Given the description of an element on the screen output the (x, y) to click on. 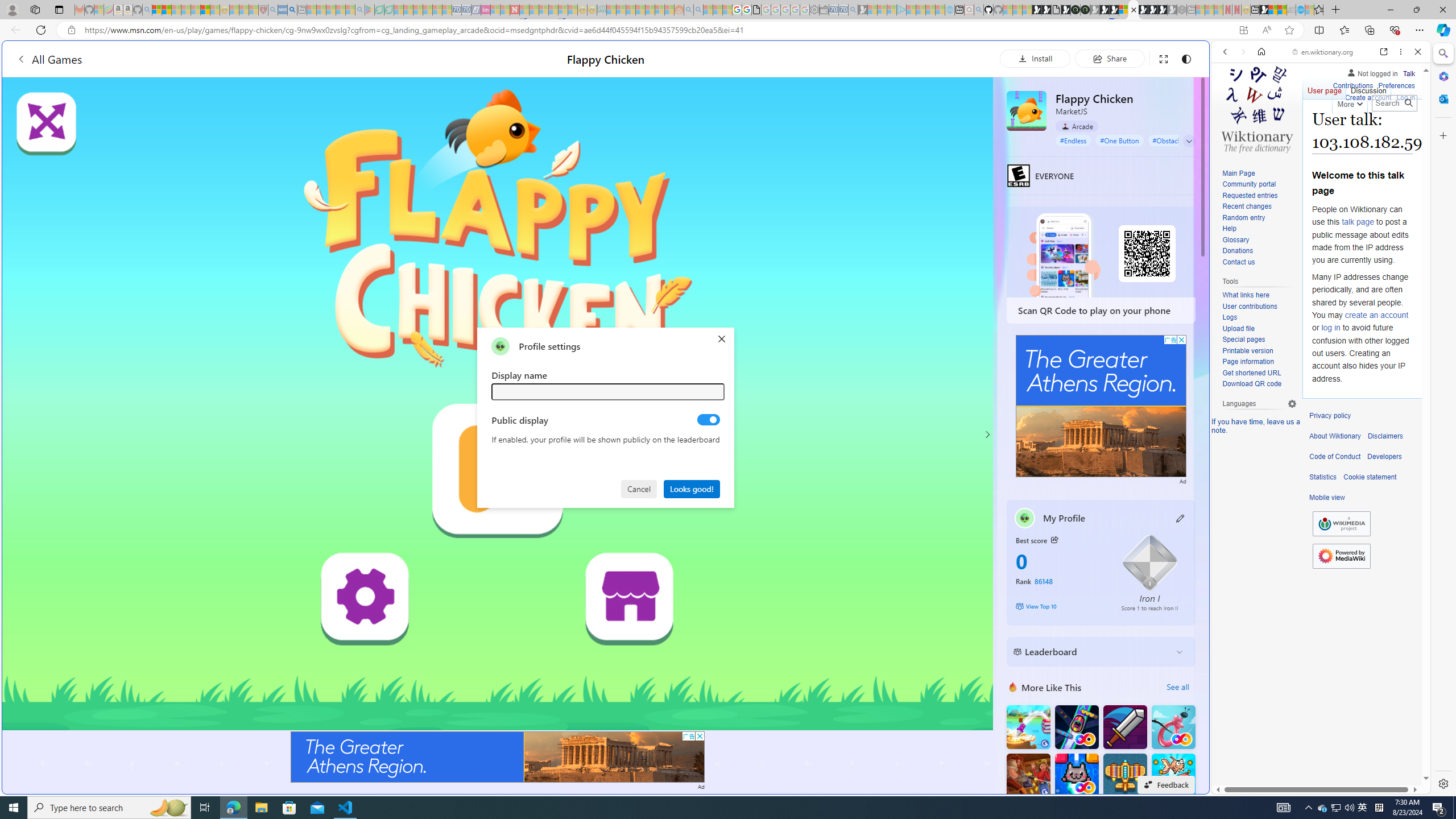
Help (1228, 228)
Change to dark mode (1185, 58)
Jobs - lastminute.com Investor Portal - Sleeping (485, 9)
Privacy policy (1329, 415)
Search Filter, VIDEOS (1300, 129)
See all (1177, 687)
Looks good! (691, 488)
AutomationID: cbb (1181, 339)
Upload file (1238, 328)
14 Common Myths Debunked By Scientific Facts - Sleeping (533, 9)
